Given the description of an element on the screen output the (x, y) to click on. 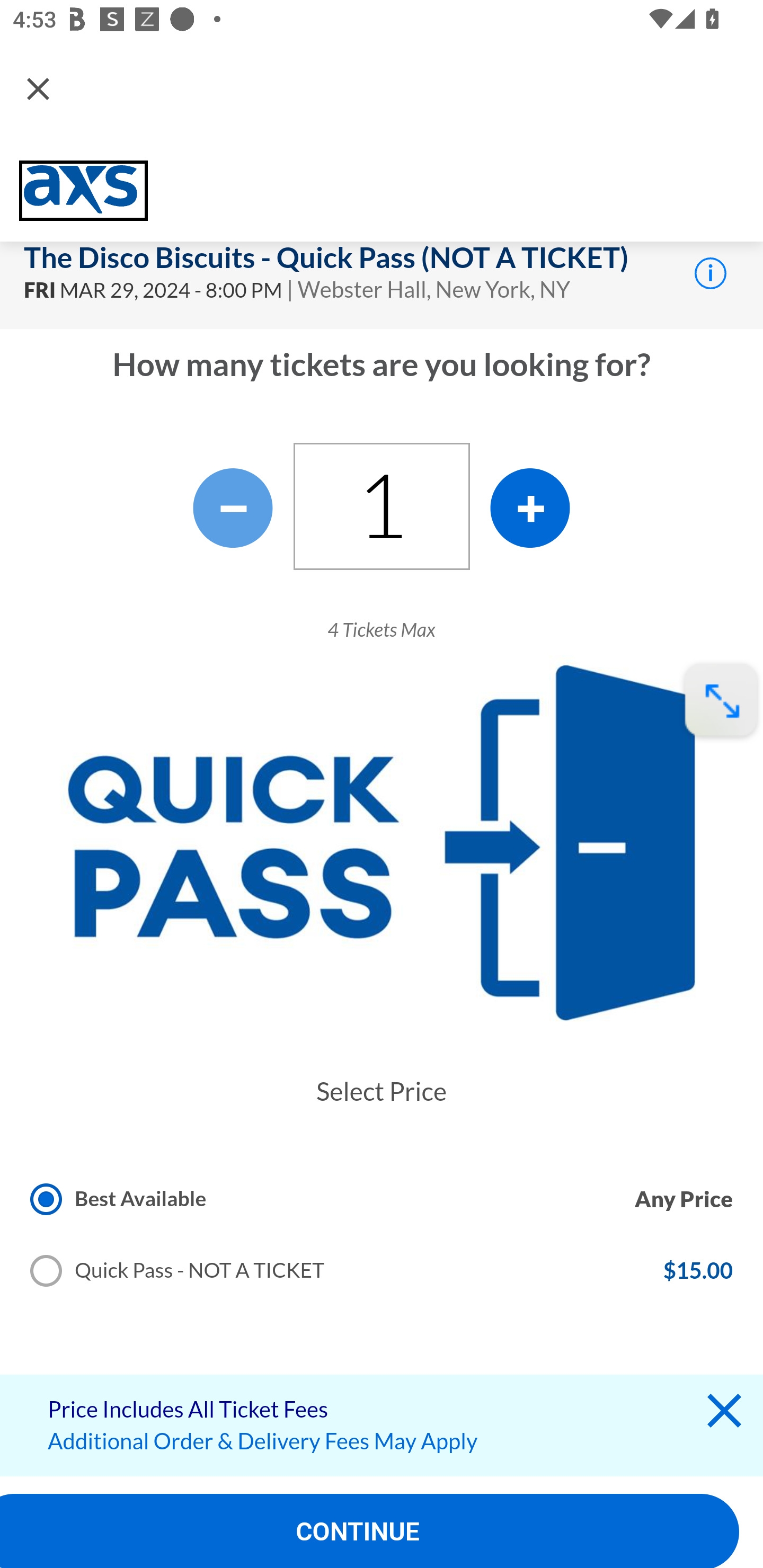
Close (38, 88)
BoweryNY-WH (83, 190)
I (710, 272)
Minus (232, 507)
Plus (530, 507)
Full In (721, 700)
Best Available (118, 1198)
Best Available (124, 1201)
Quick Pass - NOT A TICKET (177, 1270)
$15.00 (697, 1270)
Quick Pass - NOT A TICKET (183, 1273)
Close (723, 1414)
Additional Order & Delivery Fees May Apply (262, 1440)
CONTINUE (369, 1531)
